Given the description of an element on the screen output the (x, y) to click on. 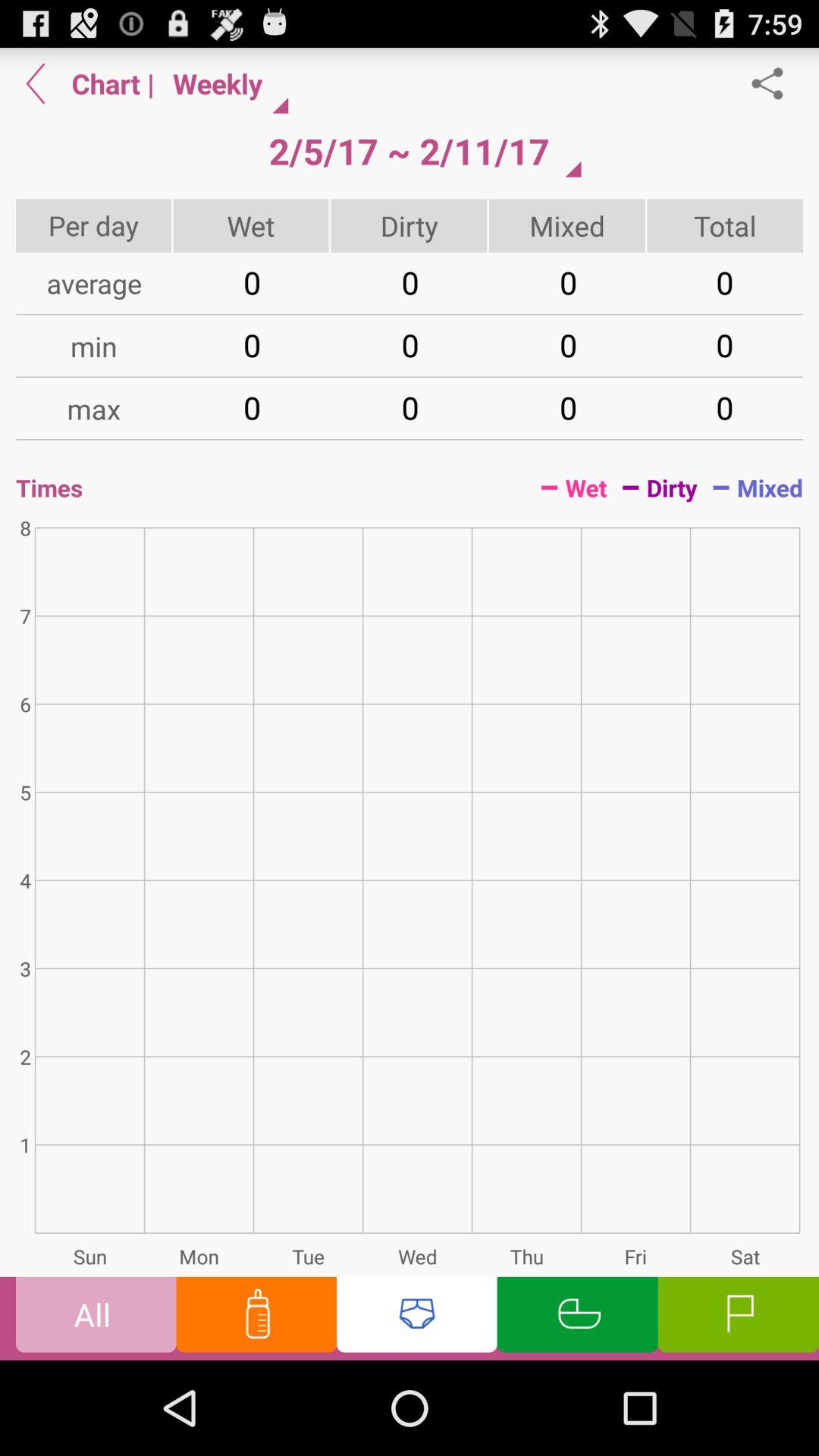
the button is used to share the page to others (775, 83)
